Given the description of an element on the screen output the (x, y) to click on. 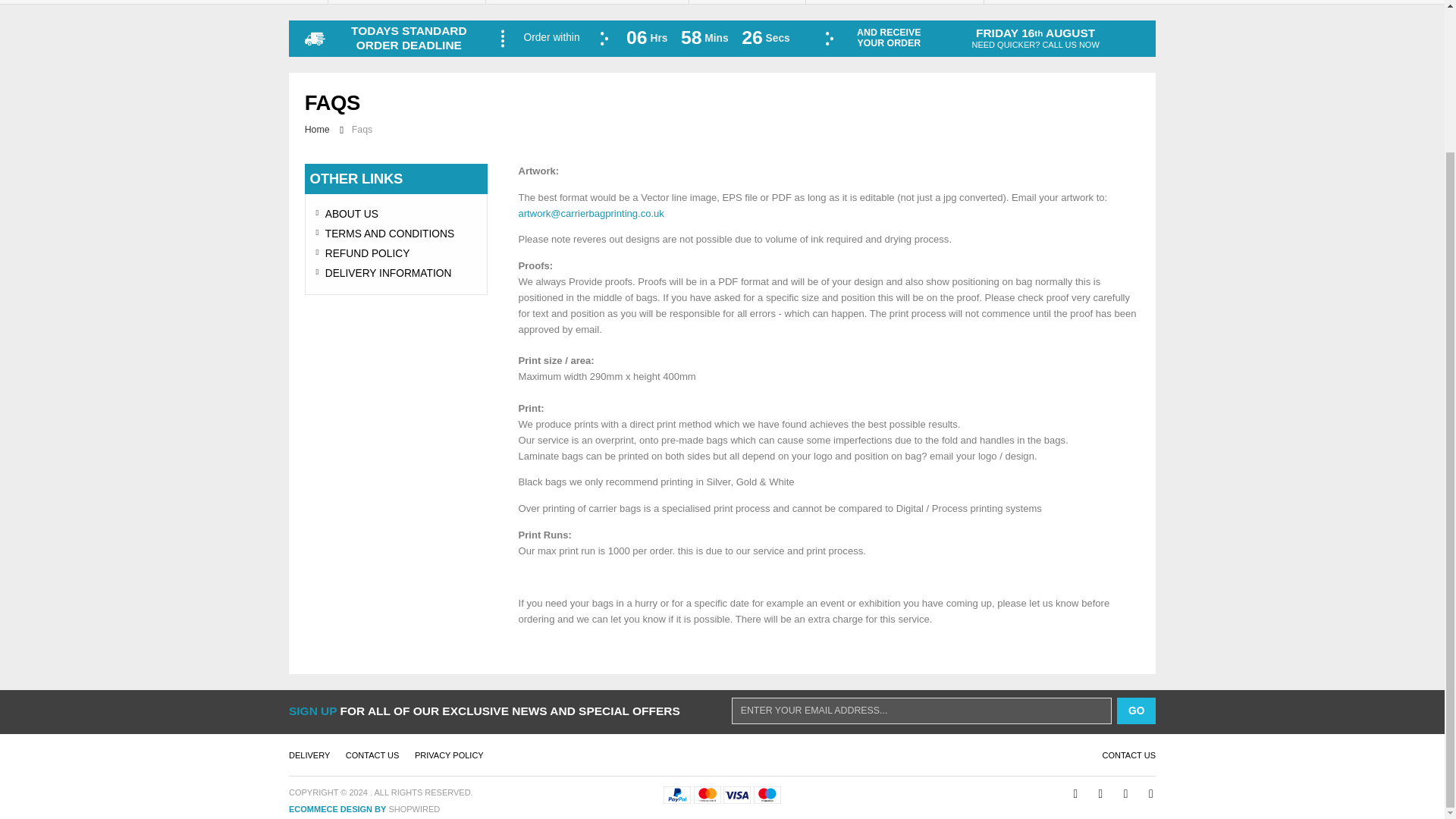
ECOMMECE DESIGN BY (336, 809)
twitter (1092, 792)
TERMS AND CONDITIONS (395, 234)
REFUND POLICY (395, 253)
linkedin (1118, 792)
GO (1136, 710)
Home (317, 129)
CONTACT US (1129, 755)
PRINTED PLASTIC CARRIER BAGS (405, 2)
MISPRINT MISPRINTED CARRIER BAGS (1070, 2)
ABOUT US (395, 214)
CUSTOM PRINTED ECOMMERCE MAILING BAGS (586, 2)
PRIVACY POLICY (448, 755)
PRINTED PAPER BAGS (746, 2)
PRINTED ROPE HANDLE LAMINATE BAGS (894, 2)
